Given the description of an element on the screen output the (x, y) to click on. 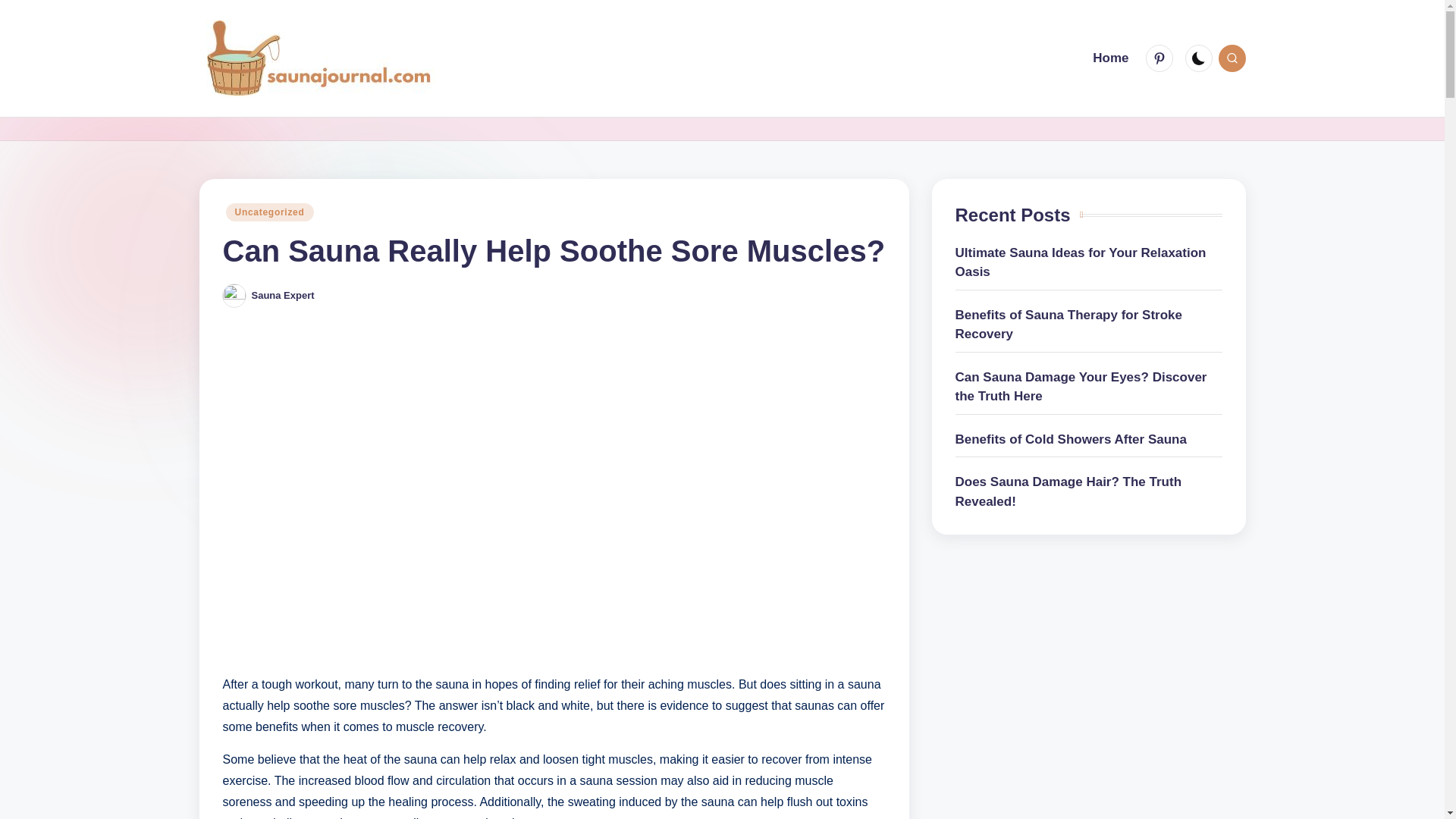
Home (1110, 57)
Menu Item (1160, 58)
Uncategorized (269, 212)
Sauna Expert (282, 295)
View all posts by Sauna Expert (282, 295)
Pinterest (1158, 58)
